Given the description of an element on the screen output the (x, y) to click on. 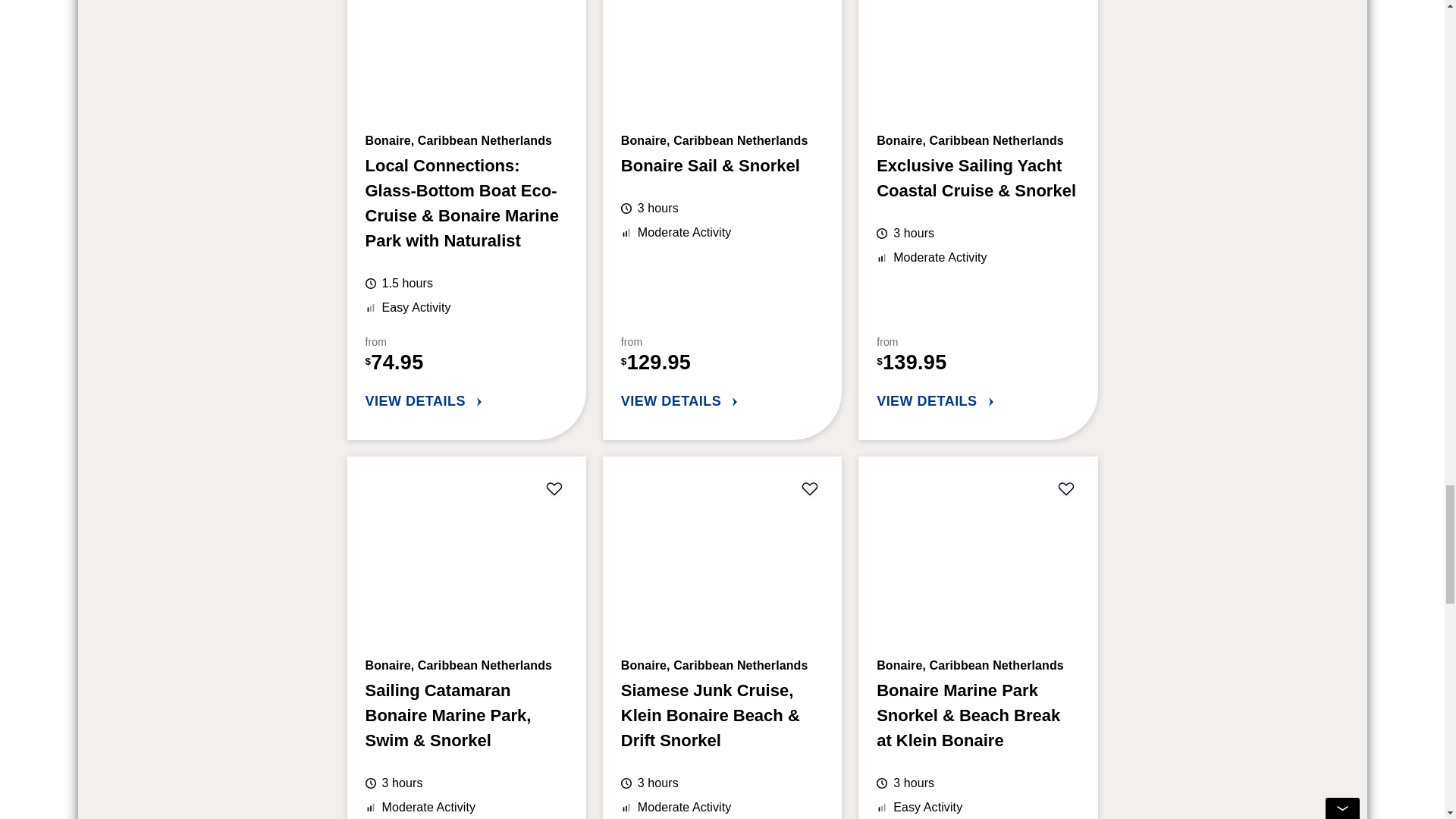
VIEW DETAILS (722, 401)
VIEW DETAILS (466, 401)
VIEW DETAILS (977, 401)
